Given the description of an element on the screen output the (x, y) to click on. 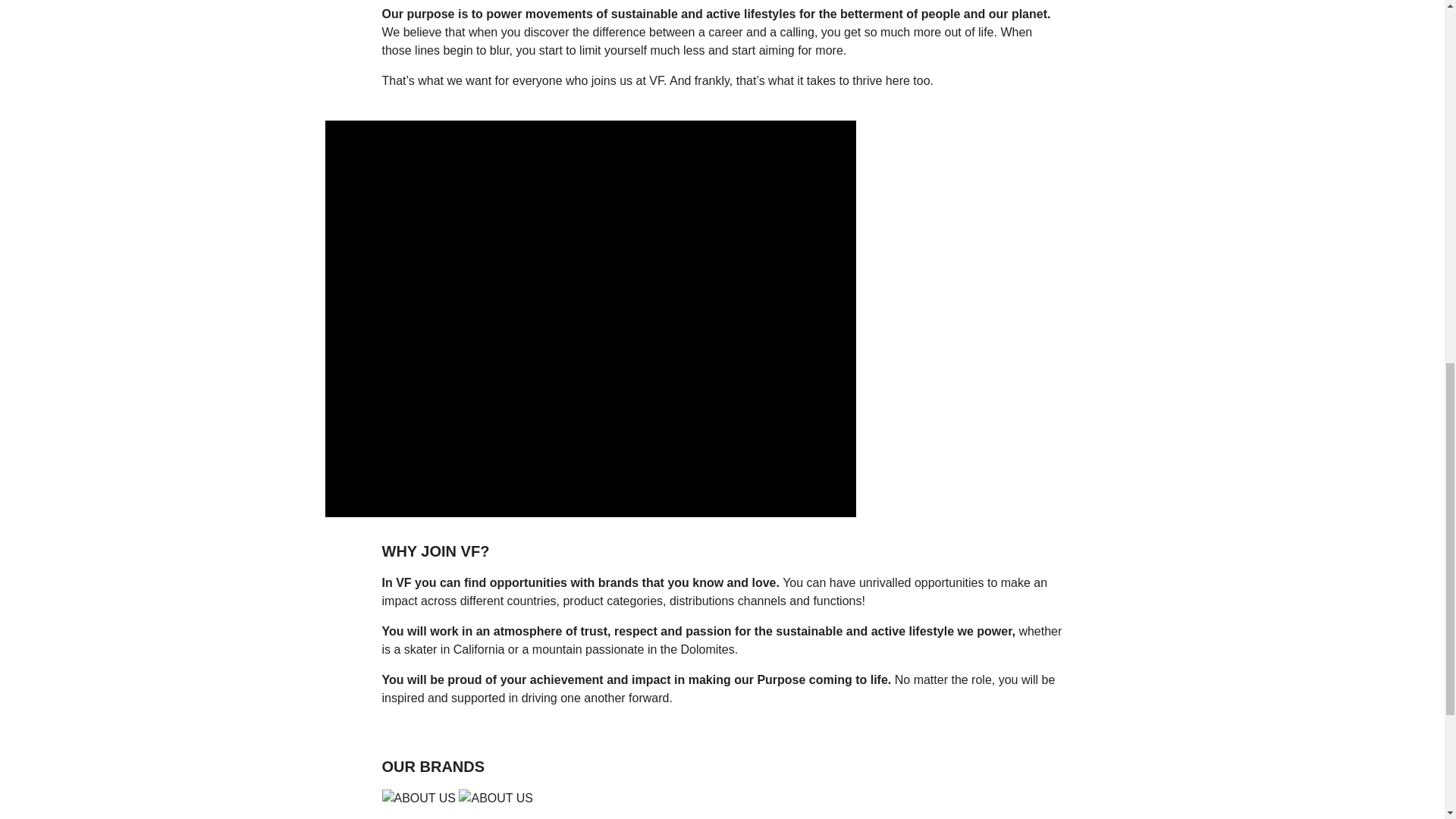
ABOUT US (721, 798)
